Given the description of an element on the screen output the (x, y) to click on. 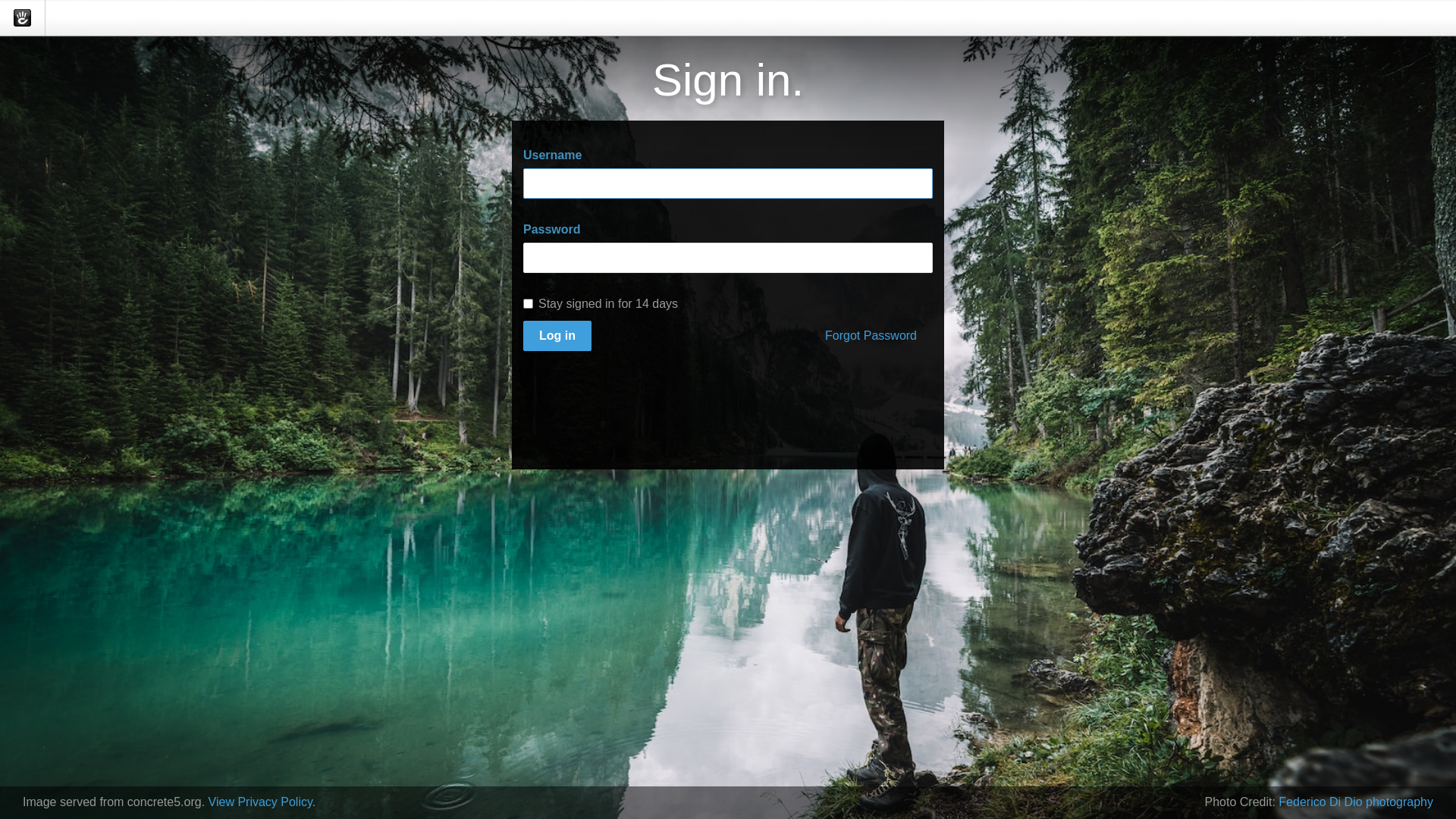
concrete5 Element type: hover (22, 17)
Federico Di Dio photography Element type: text (1355, 801)
Forgot Password Element type: text (870, 335)
View Privacy Policy Element type: text (260, 801)
Log in Element type: text (557, 335)
